Given the description of an element on the screen output the (x, y) to click on. 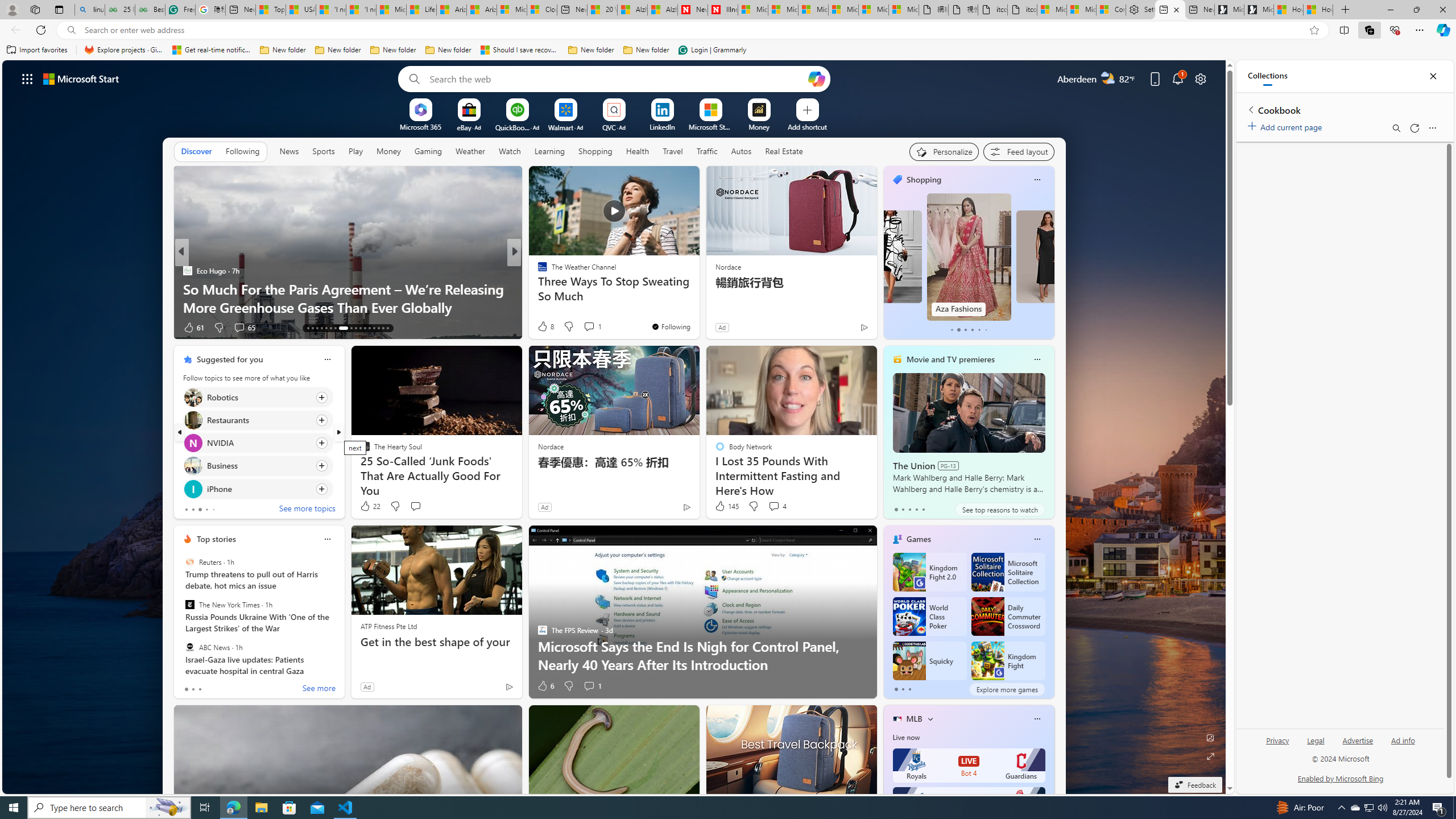
View comments 7 Comment (589, 327)
AutomationID: tab-18 (330, 328)
Cheapism (537, 288)
App launcher (27, 78)
Feed settings (1018, 151)
tab-4 (923, 509)
ATP Fitness Pte Ltd (388, 625)
